Given the description of an element on the screen output the (x, y) to click on. 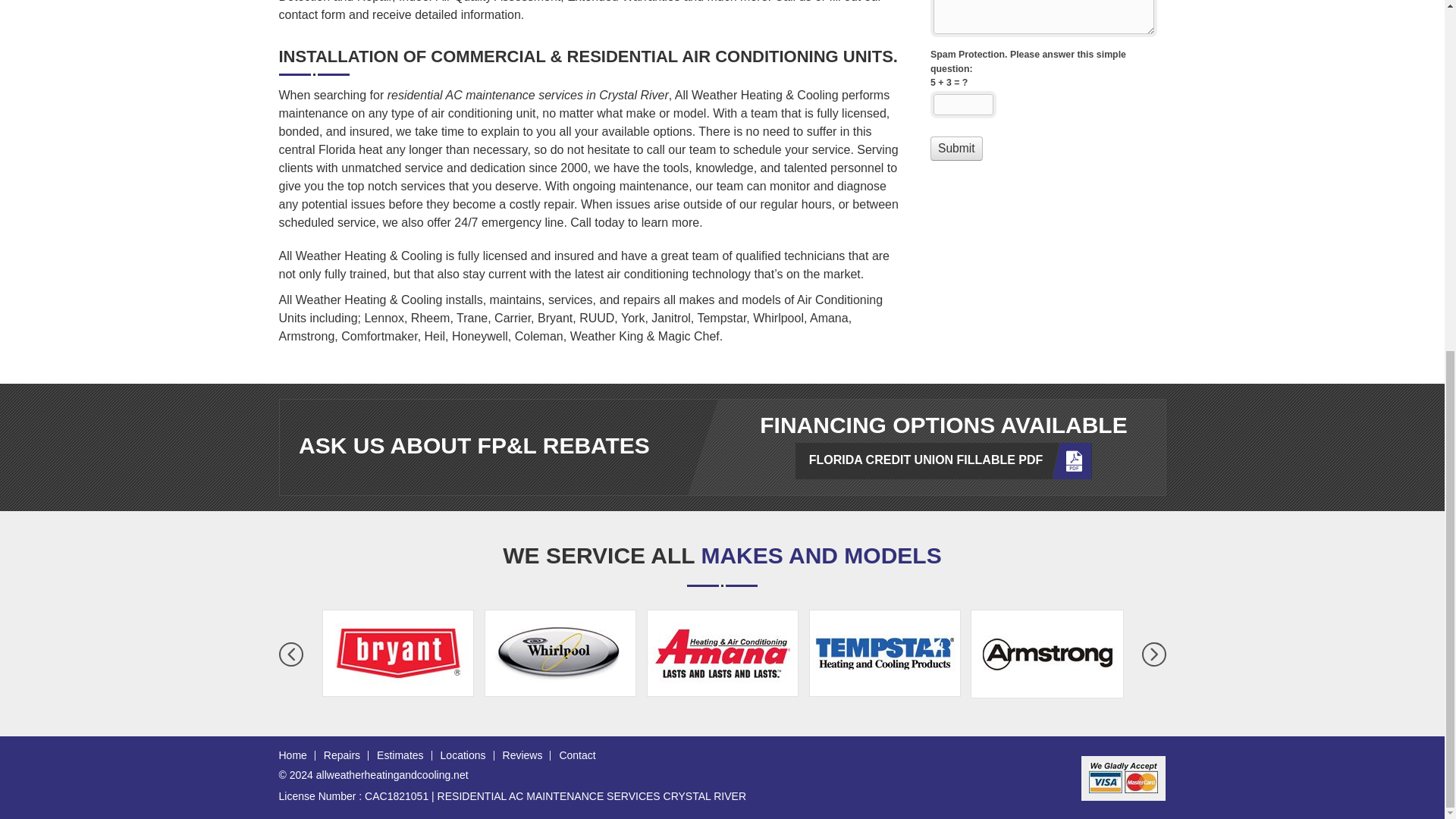
Locations (463, 755)
Request a Quote (1041, 86)
Repairs (341, 755)
Home (293, 755)
FLORIDA CREDIT UNION FILLABLE PDF (943, 461)
Estimates (400, 755)
